Given the description of an element on the screen output the (x, y) to click on. 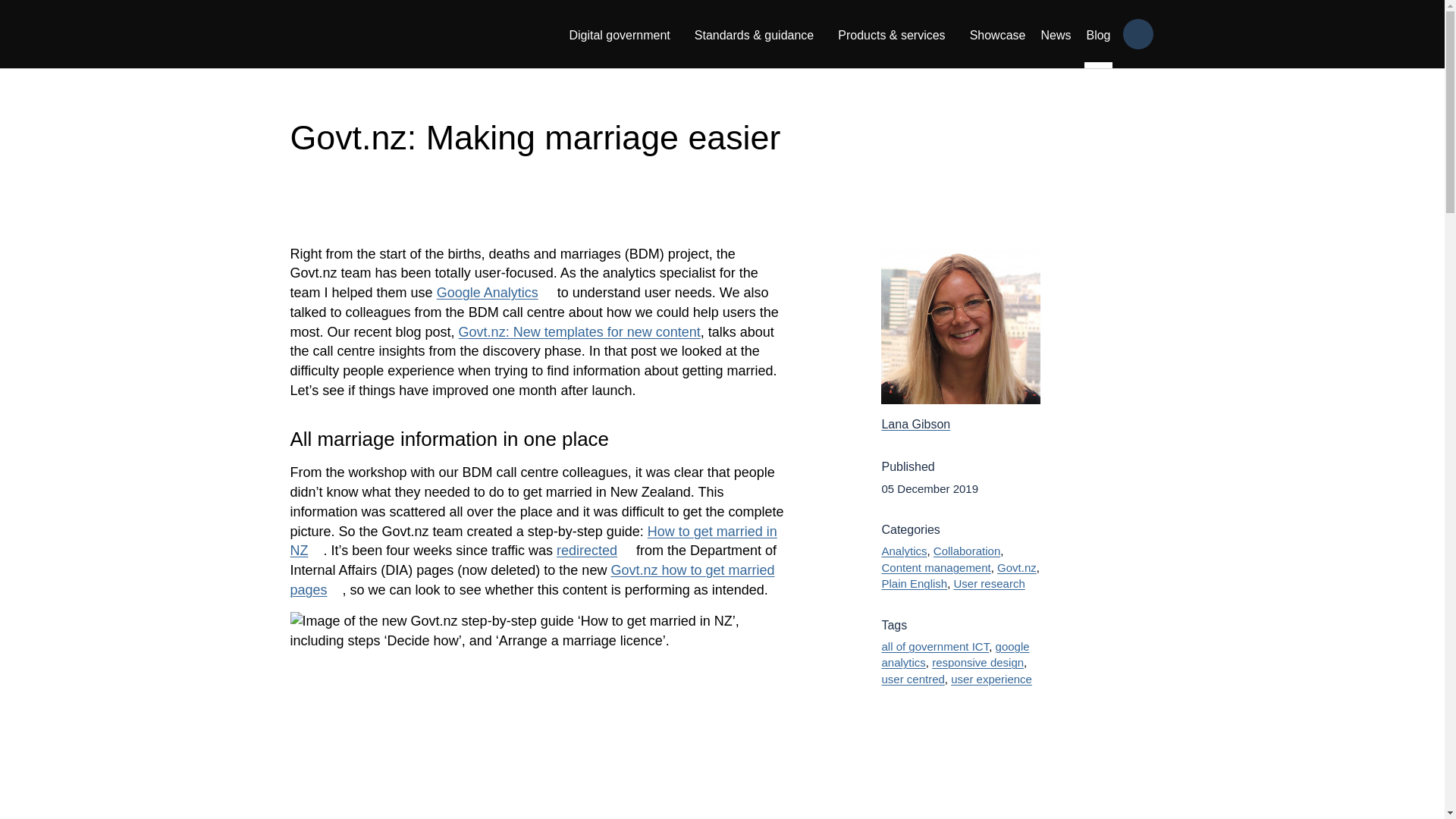
all of government ICT (934, 645)
Govt.nz: New templates for new content (579, 331)
Analytics (903, 550)
User research (989, 583)
Content management (935, 567)
user experience (991, 678)
How to get married in NZ (531, 715)
responsive design (977, 662)
Digital government (619, 33)
google analytics (954, 654)
